Given the description of an element on the screen output the (x, y) to click on. 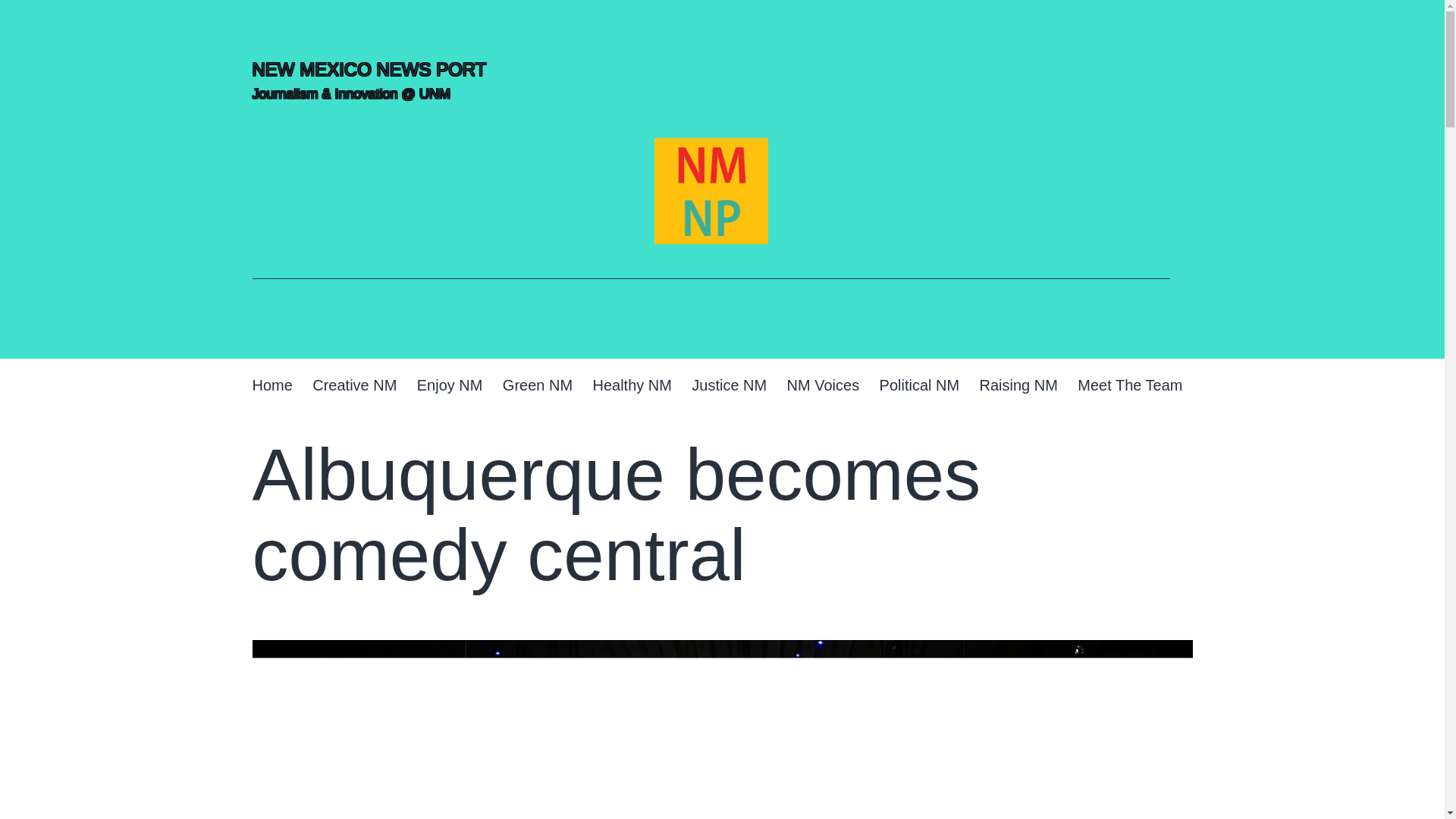
Justice NM (728, 385)
Political NM (919, 385)
Enjoy NM (450, 385)
Healthy NM (631, 385)
Home (271, 385)
Creative NM (354, 385)
Green NM (538, 385)
NM Voices (822, 385)
NEW MEXICO NEWS PORT (368, 68)
Raising NM (1018, 385)
Meet The Team (1129, 385)
